Given the description of an element on the screen output the (x, y) to click on. 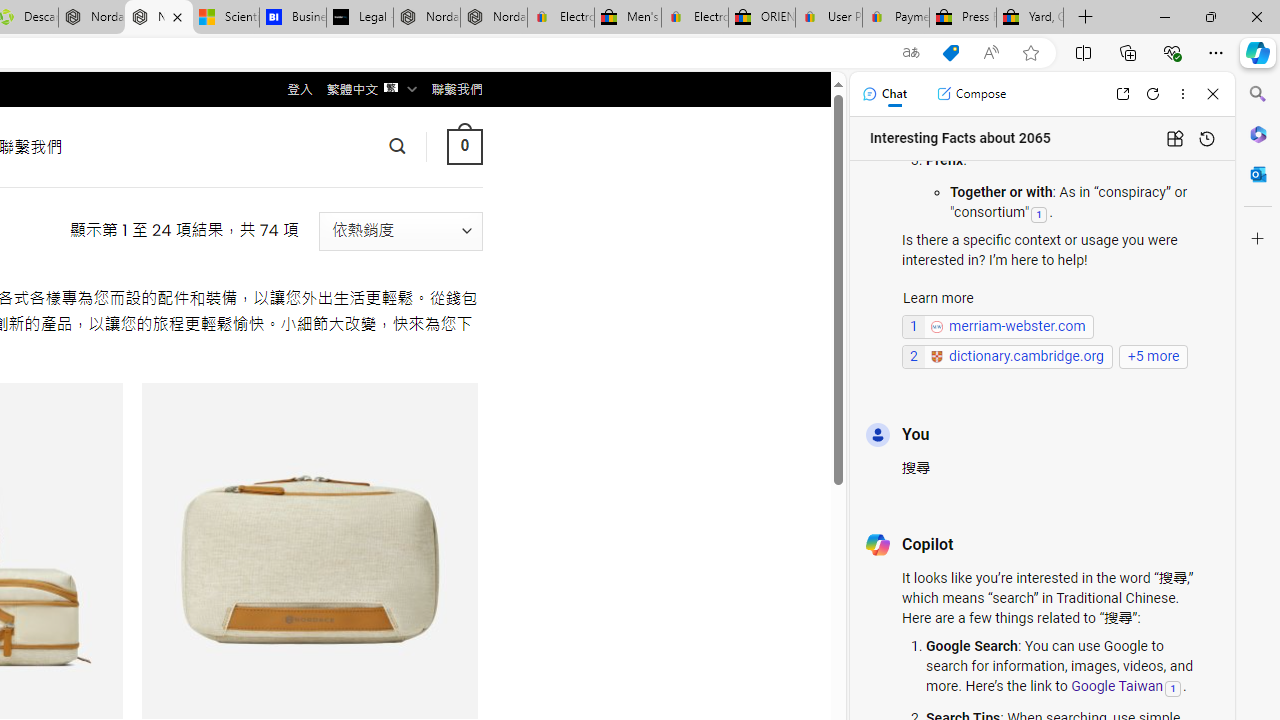
Chat (884, 93)
 0  (464, 146)
Show translate options (910, 53)
Press Room - eBay Inc. (962, 17)
User Privacy Notice | eBay (828, 17)
